Given the description of an element on the screen output the (x, y) to click on. 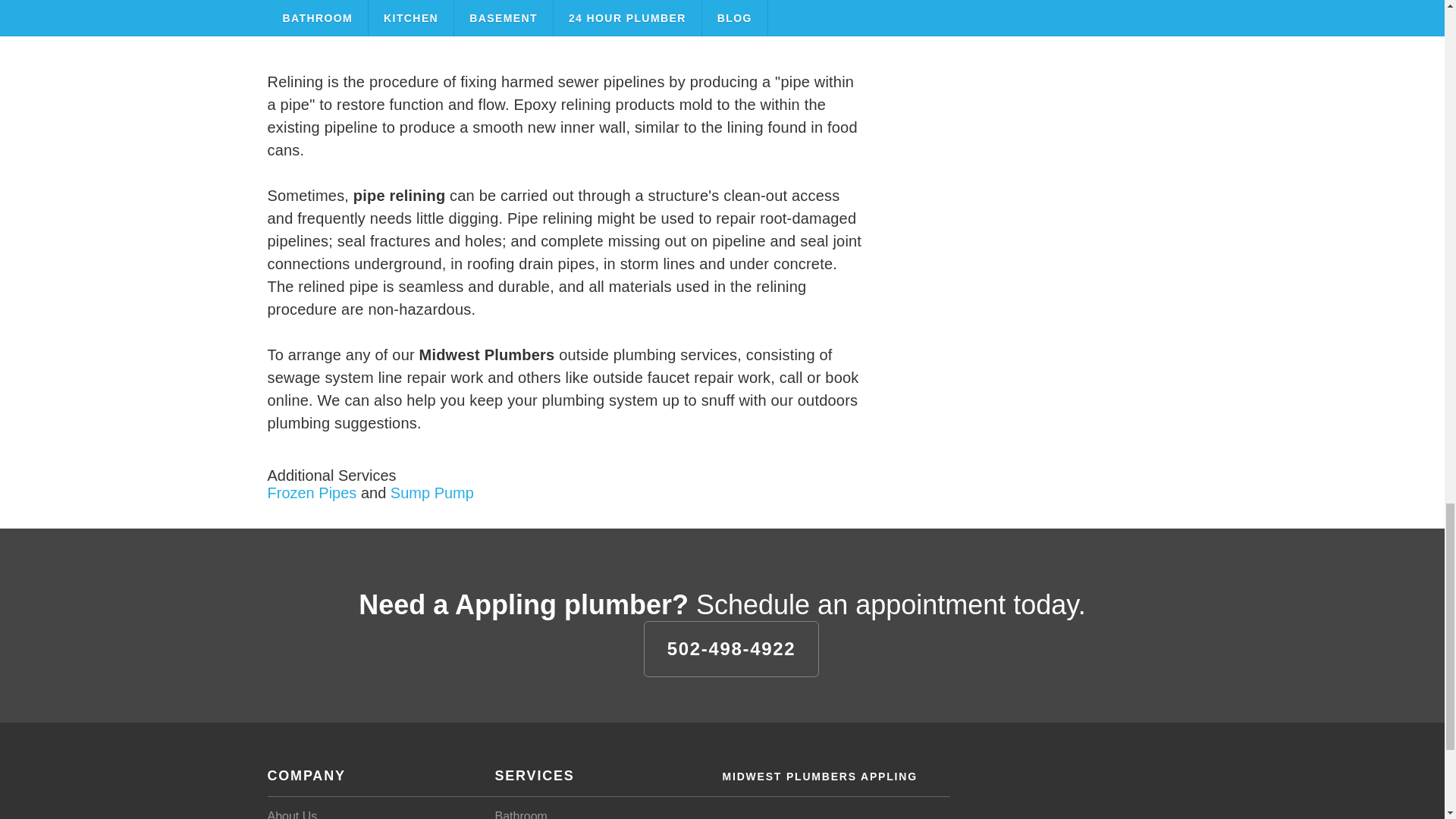
About Us (291, 814)
Sump Pump (432, 492)
Frozen Pipes (311, 492)
Bathroom (521, 814)
502-498-4922 (731, 647)
